Given the description of an element on the screen output the (x, y) to click on. 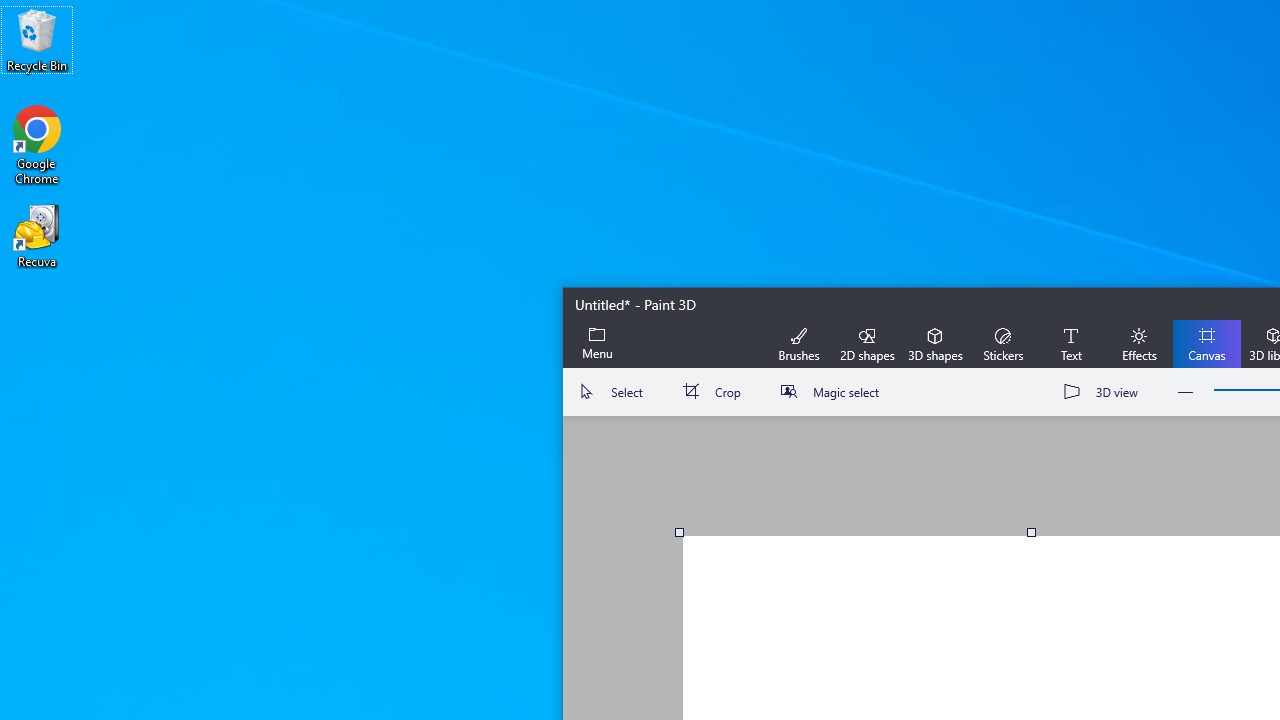
Recycle Bin (37, 39)
Google Chrome (37, 144)
Recuva (37, 235)
